Given the description of an element on the screen output the (x, y) to click on. 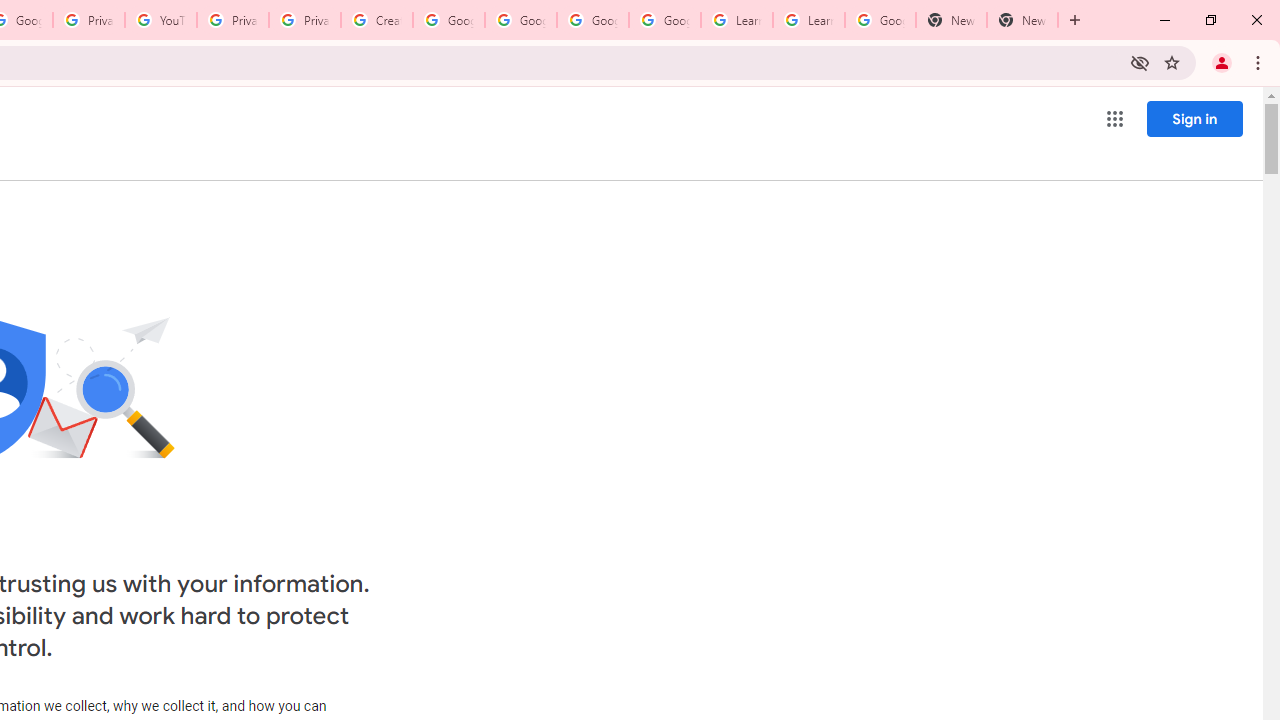
Google Account (880, 20)
New Tab (951, 20)
Sign in (1194, 118)
YouTube (161, 20)
Create your Google Account (376, 20)
New Tab (1022, 20)
Google Account Help (449, 20)
